Given the description of an element on the screen output the (x, y) to click on. 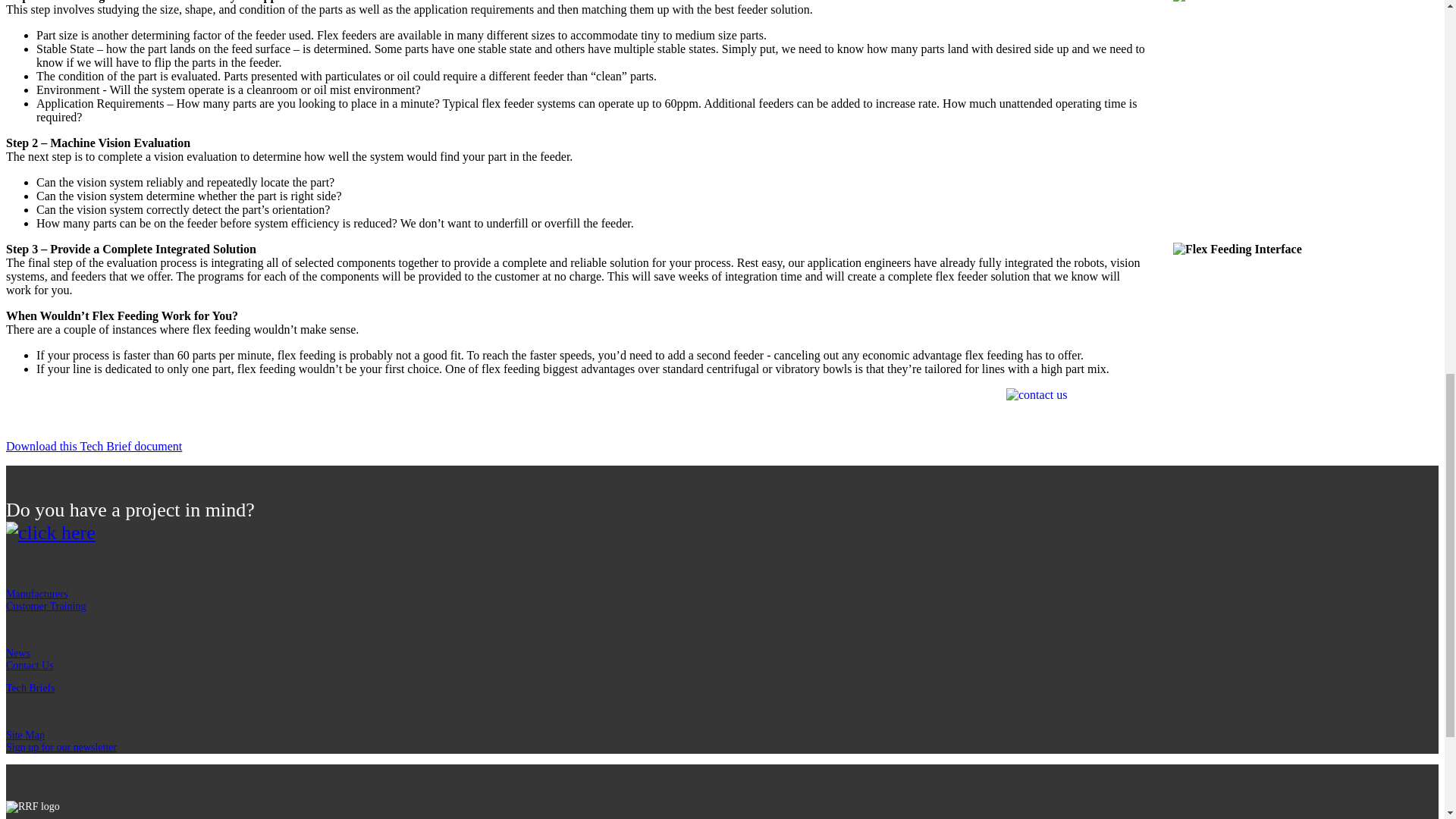
Manufacturers (36, 593)
News (17, 653)
Contact Us (29, 665)
Customer Training (45, 605)
Sign up for our newsletter (60, 747)
Site Map (25, 735)
Download this Tech Brief document (93, 445)
Tech Briefs (30, 687)
